Given the description of an element on the screen output the (x, y) to click on. 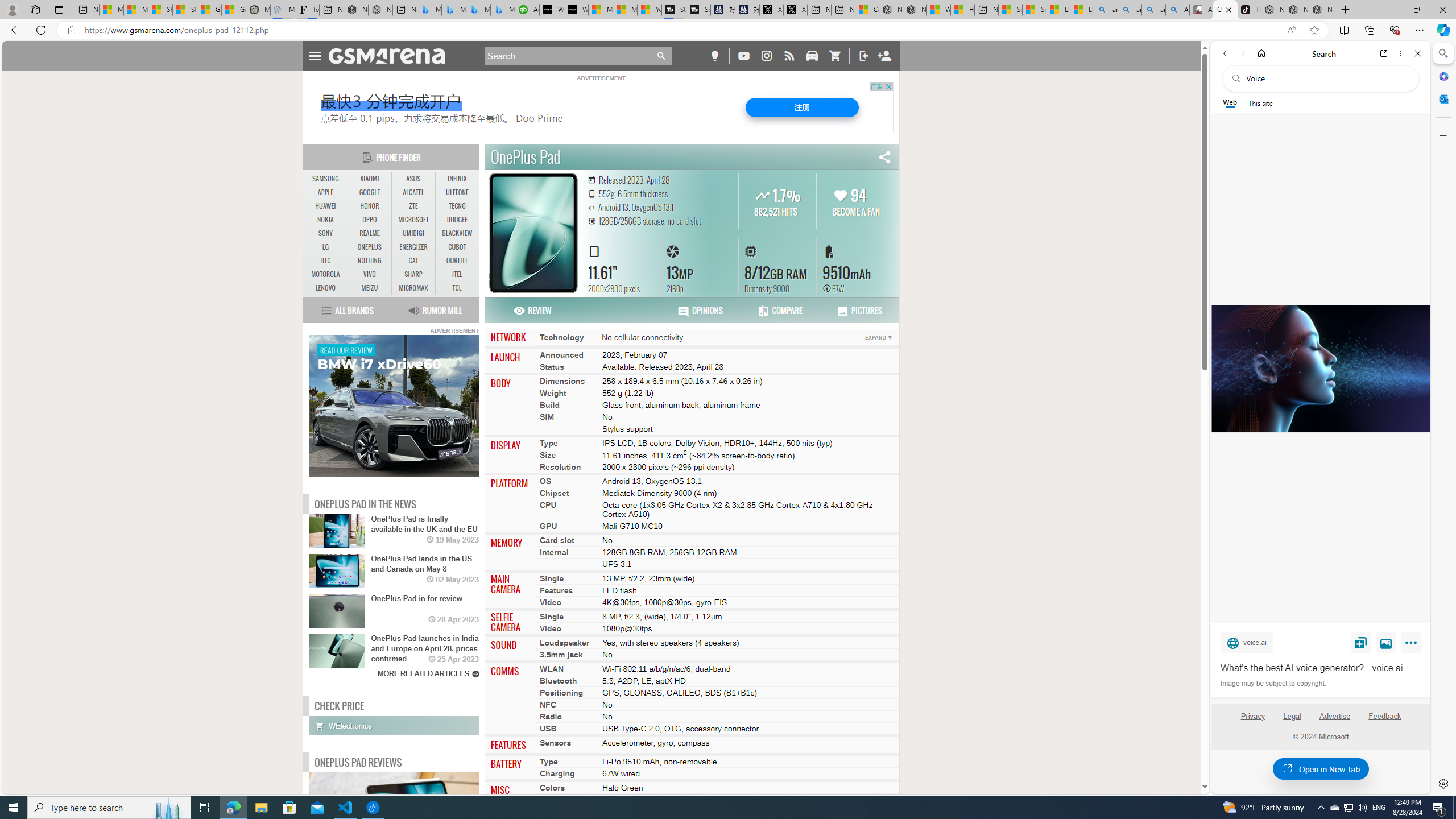
Colors (552, 787)
INFINIX (457, 178)
UMIDIGI (413, 233)
OnePlus Pad MORE PICTURES (533, 232)
ALCATEL (413, 192)
Web scope (1230, 102)
OPPO (369, 219)
Nordace - Summer Adventures 2024 (914, 9)
